Given the description of an element on the screen output the (x, y) to click on. 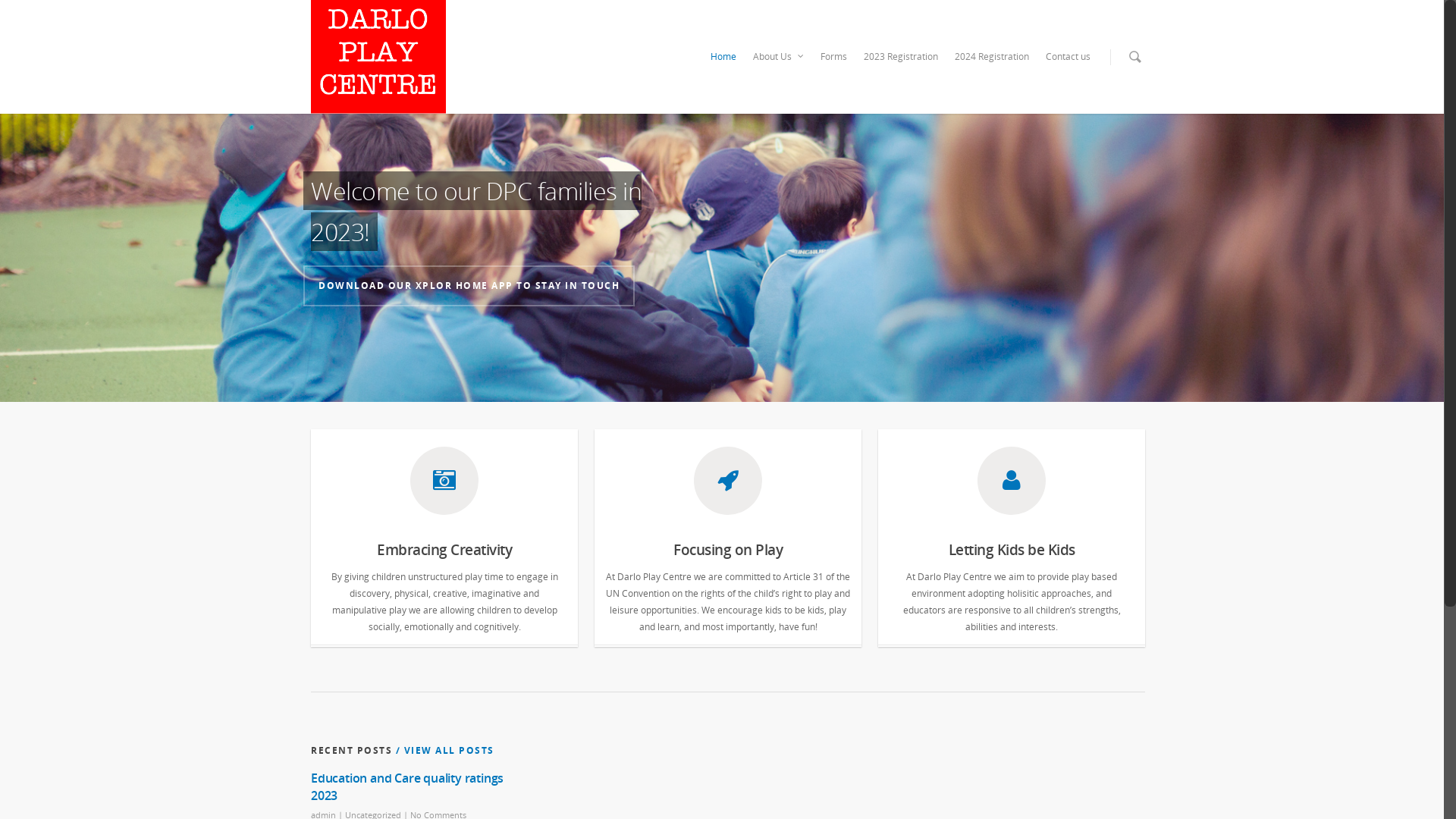
About Us Element type: text (778, 56)
/ VIEW ALL POSTS Element type: text (443, 749)
DOWNLOAD OUR XPLOR HOME APP TO STAY IN TOUCH Element type: text (468, 285)
Contact us Element type: text (1068, 56)
Education and Care quality ratings 2023 Element type: text (406, 786)
Home Element type: text (722, 56)
2024 Registration Element type: text (991, 56)
Forms Element type: text (833, 56)
2023 Registration Element type: text (900, 56)
